Given the description of an element on the screen output the (x, y) to click on. 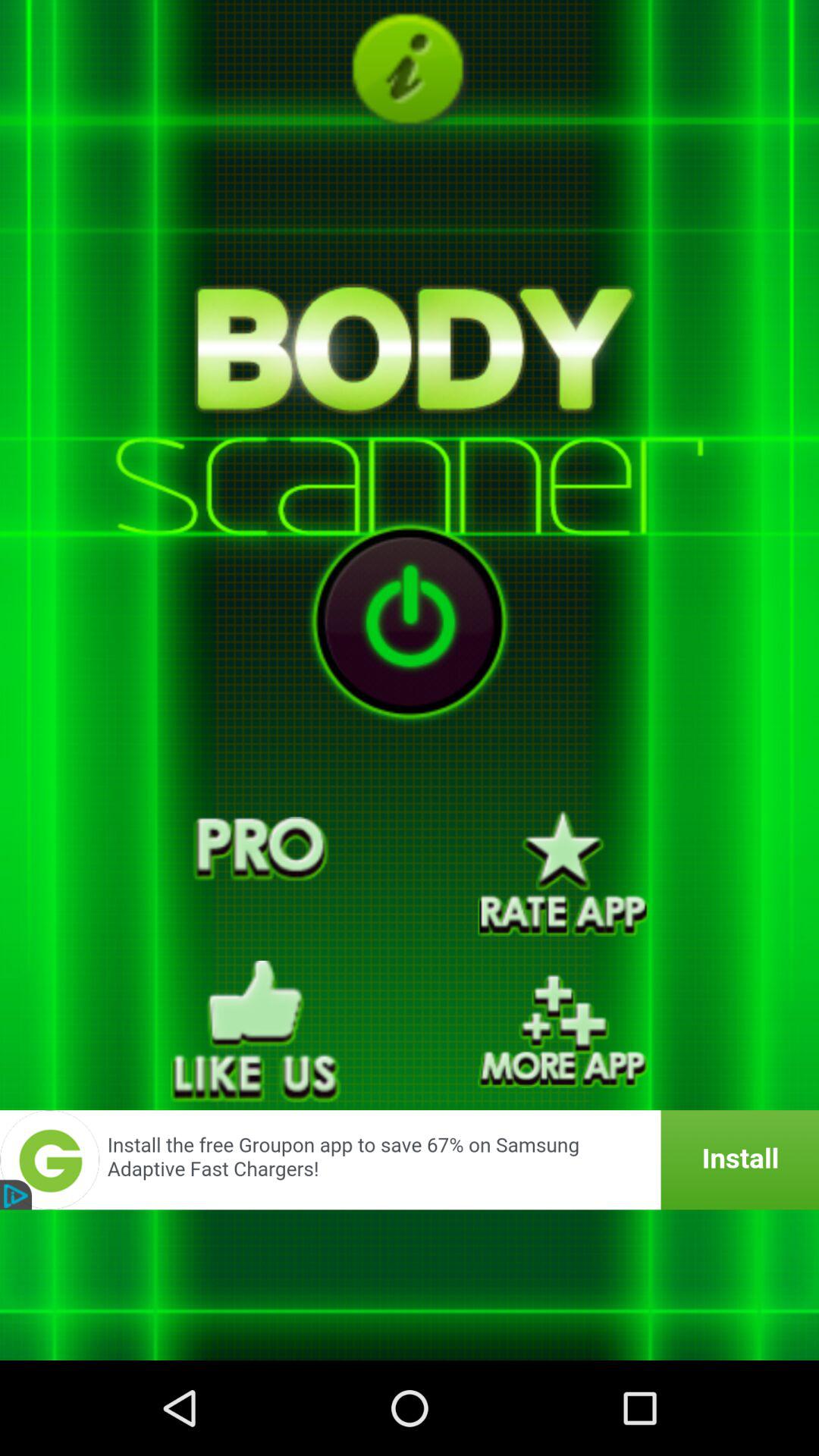
pro function (255, 873)
